Given the description of an element on the screen output the (x, y) to click on. 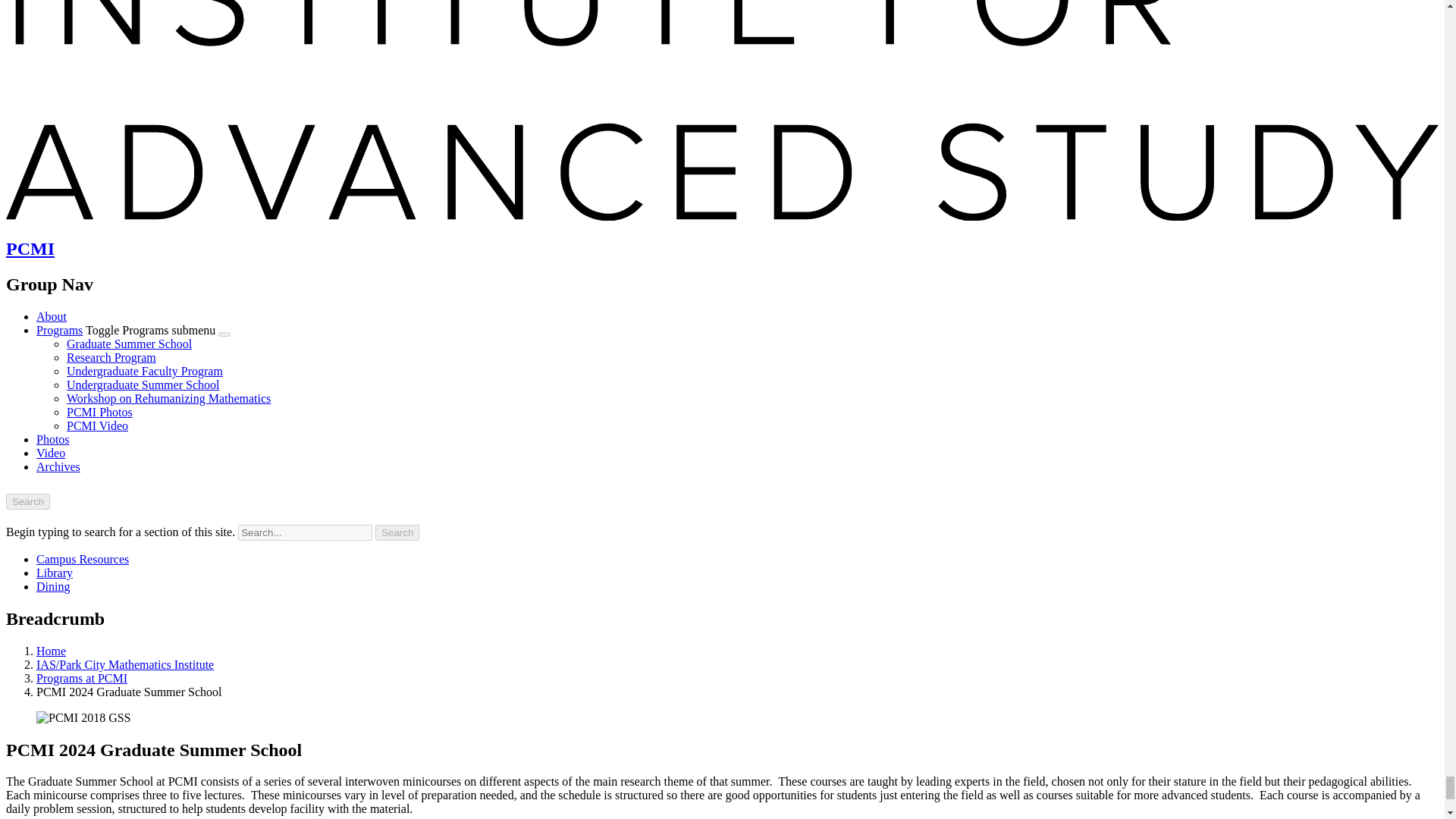
Programs at PCMI (82, 677)
Undergraduate Faculty Program (144, 370)
About (51, 316)
Search (397, 532)
Photos (52, 439)
Undergraduate Summer School (142, 384)
Search (27, 501)
Programs (59, 329)
Dining (52, 585)
Library (54, 572)
